Given the description of an element on the screen output the (x, y) to click on. 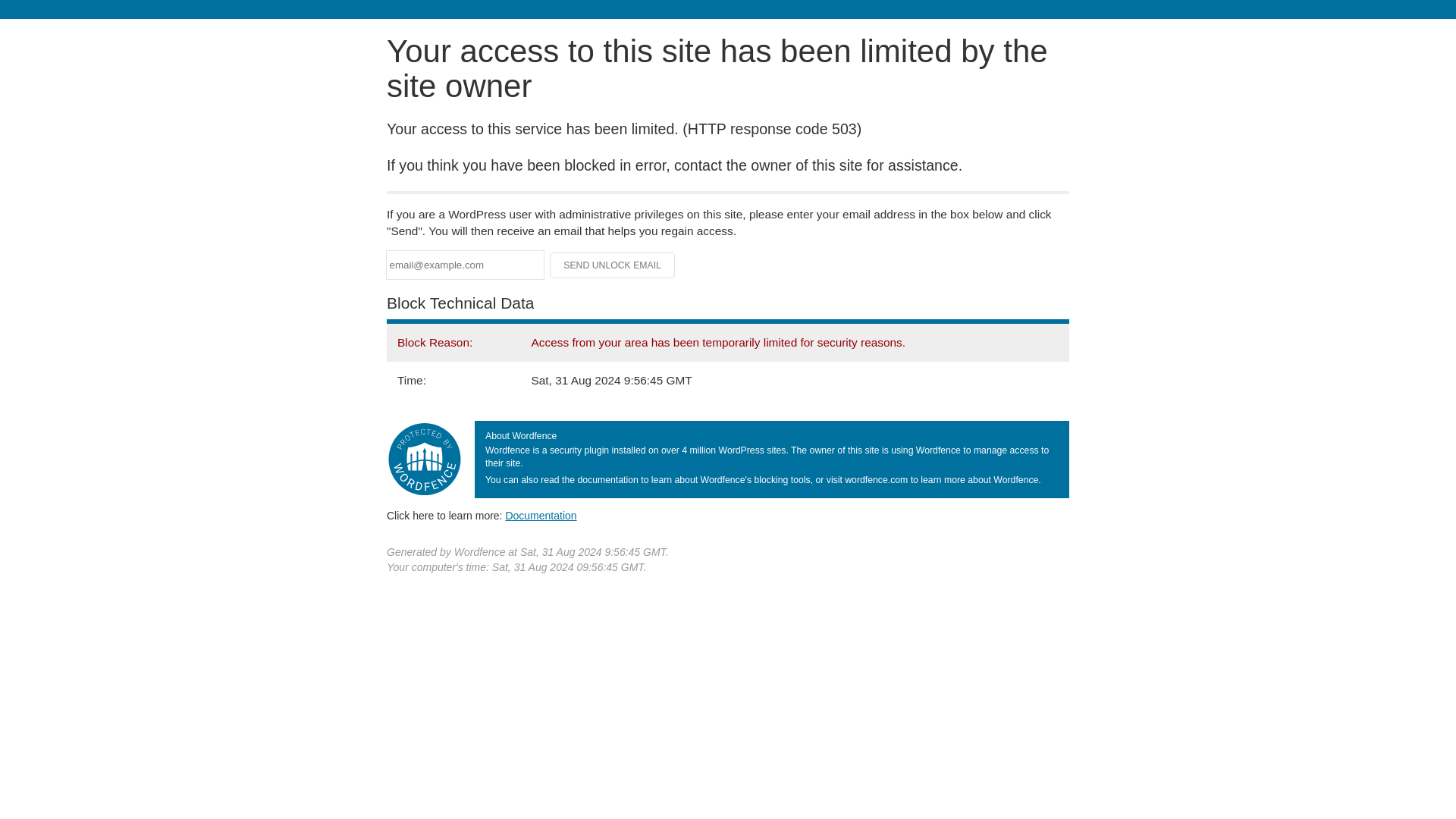
Send Unlock Email (612, 265)
Documentation (540, 515)
Send Unlock Email (612, 265)
